Given the description of an element on the screen output the (x, y) to click on. 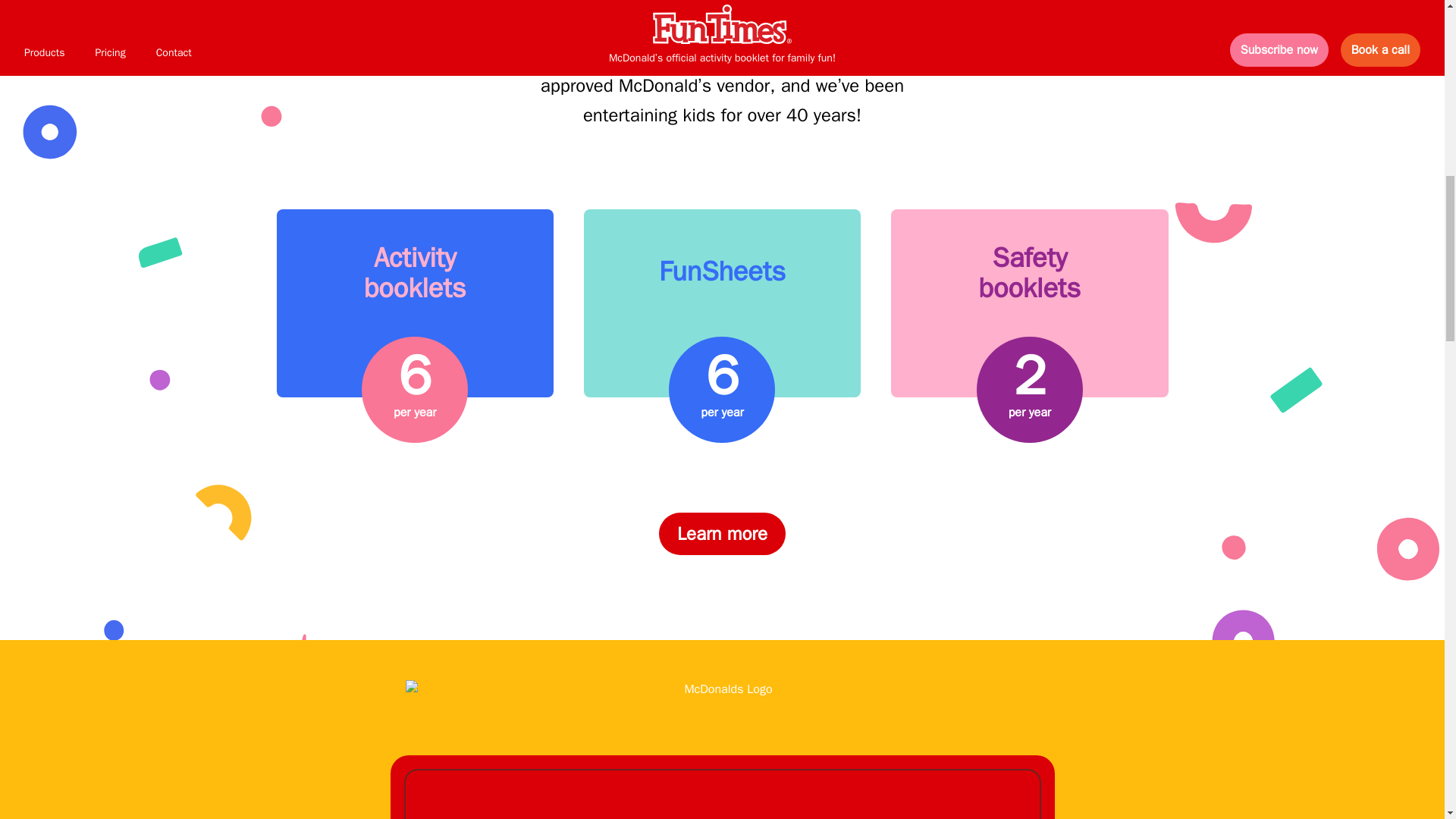
Learn more (722, 533)
